Given the description of an element on the screen output the (x, y) to click on. 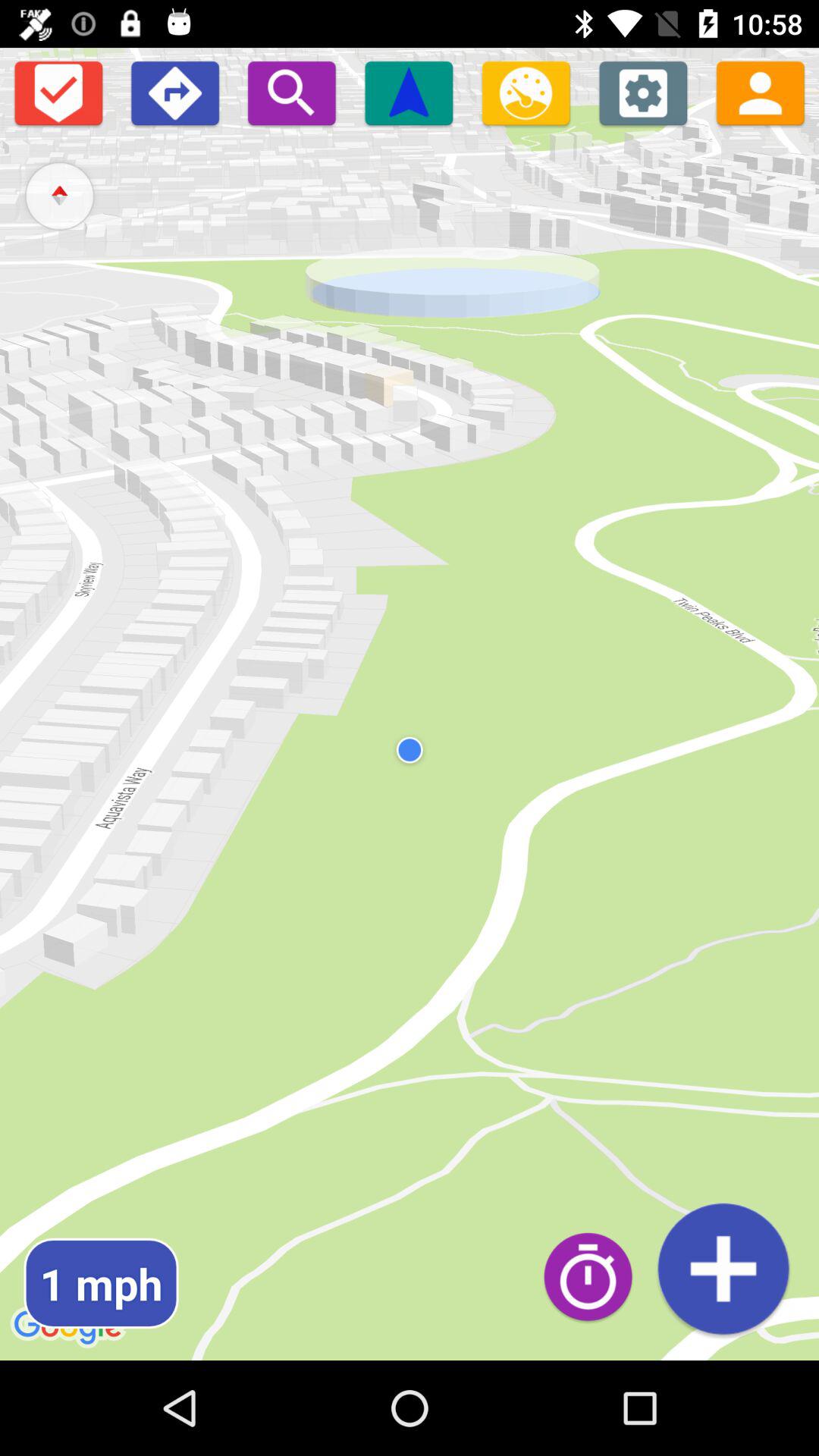
share the article (760, 92)
